Given the description of an element on the screen output the (x, y) to click on. 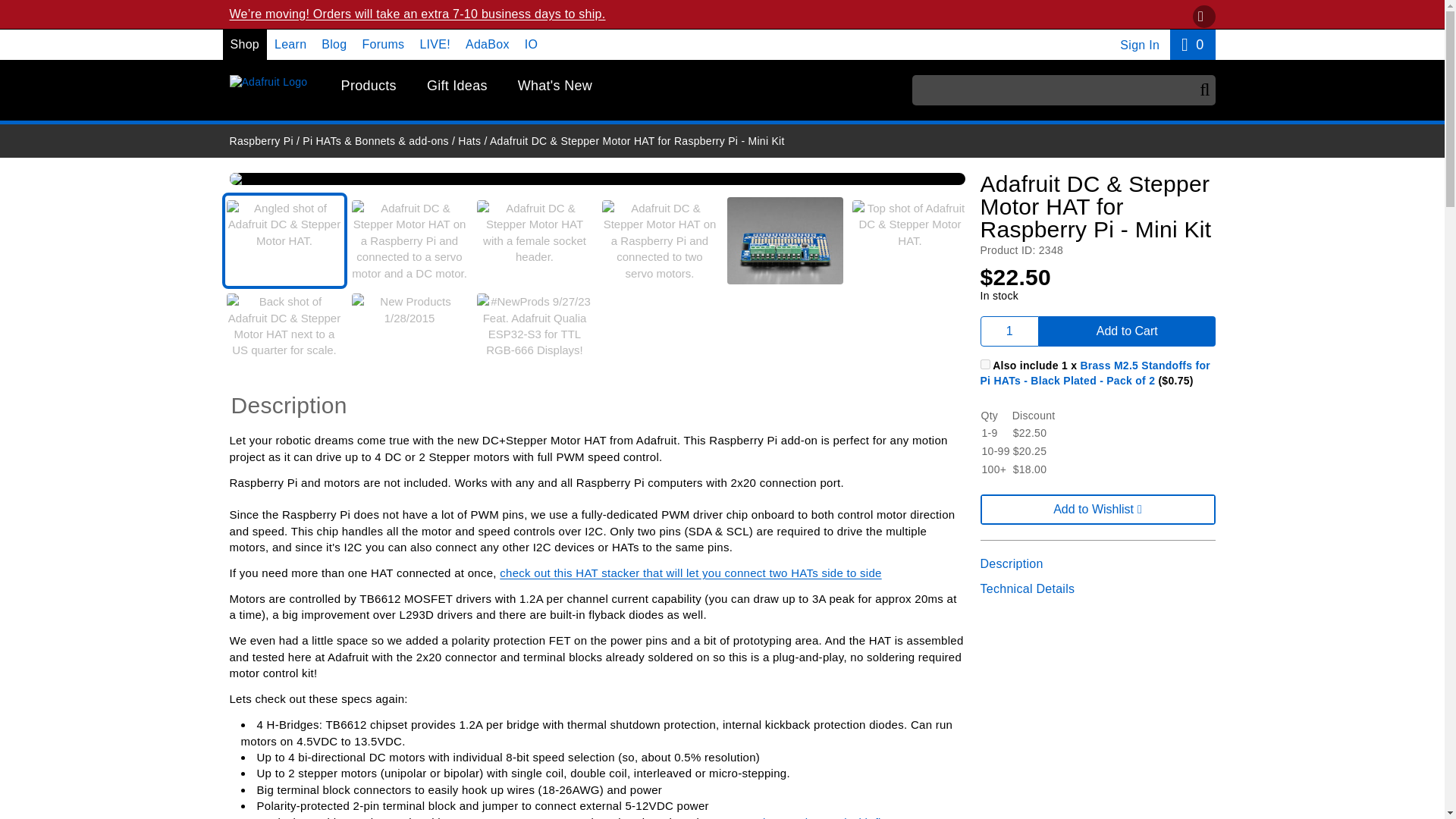
IO (530, 43)
Forums (382, 43)
Learn (290, 43)
AdaBox (487, 43)
1 (984, 364)
Products (368, 86)
LIVE! (434, 43)
Adafruit (267, 82)
Blog (1192, 44)
1 (333, 43)
Shop (1009, 331)
Sign In (245, 43)
